Given the description of an element on the screen output the (x, y) to click on. 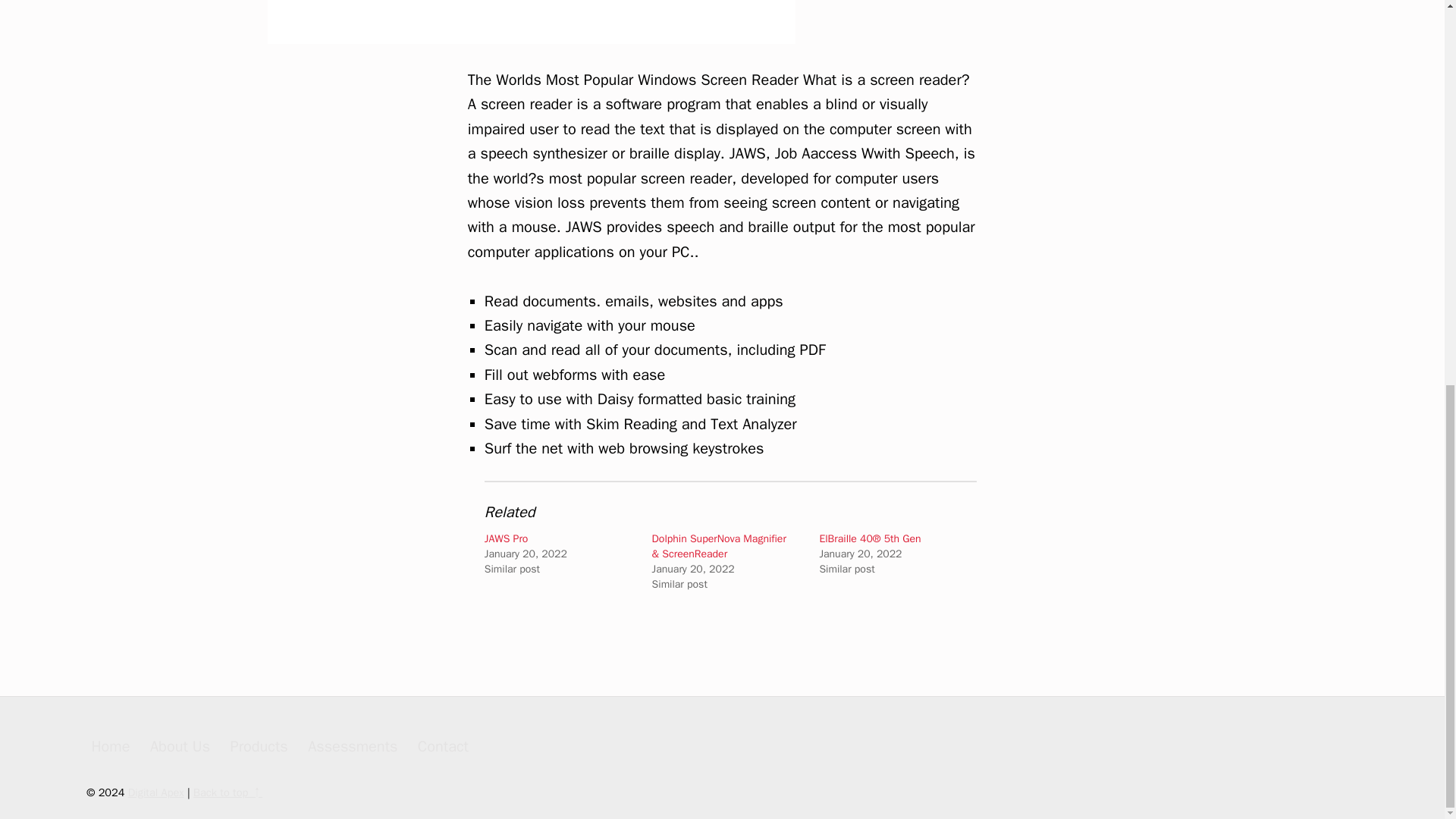
Digital Apex (156, 792)
Assessments (351, 745)
Products (258, 745)
jaws-product-image.jpg (530, 22)
JAWS Pro (506, 538)
Contact (443, 745)
About Us (179, 745)
JAWS Pro (506, 538)
Home (109, 745)
